Given the description of an element on the screen output the (x, y) to click on. 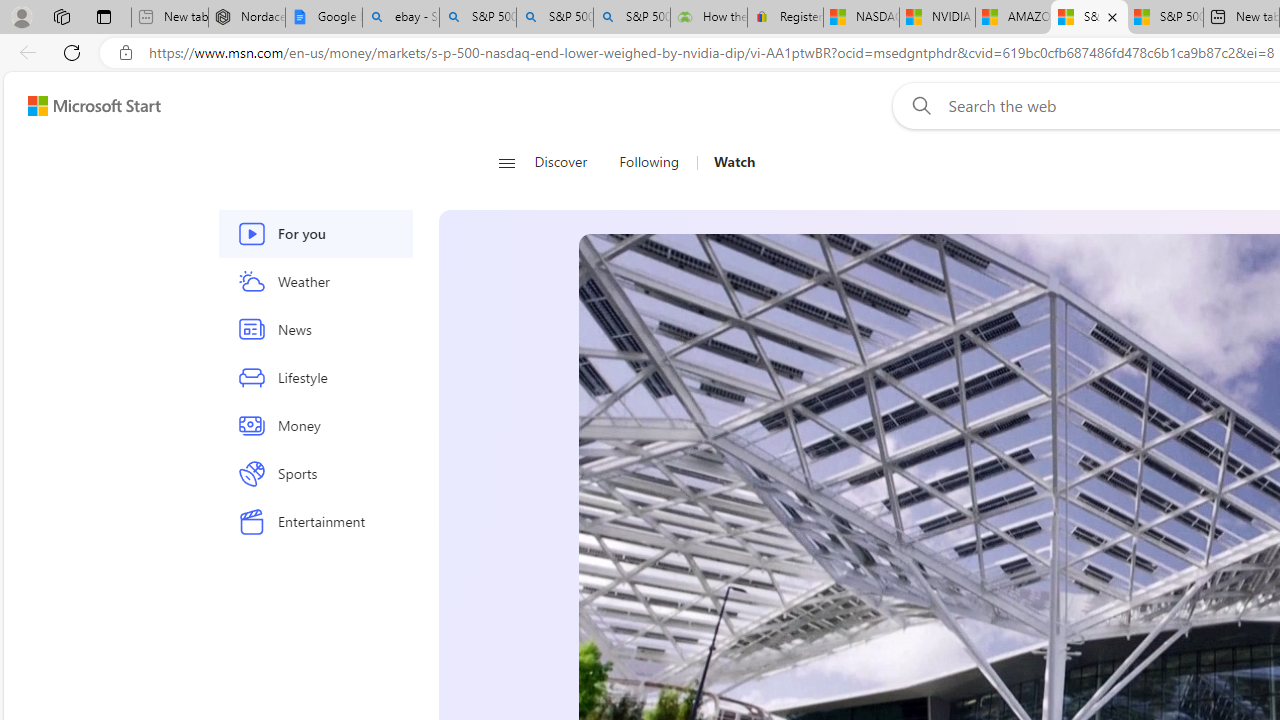
Open navigation menu (506, 162)
S&P 500 index financial crisis decline - Search (631, 17)
Google Docs: Online Document Editor | Google Workspace (323, 17)
Class: button-glyph (505, 162)
